Given the description of an element on the screen output the (x, y) to click on. 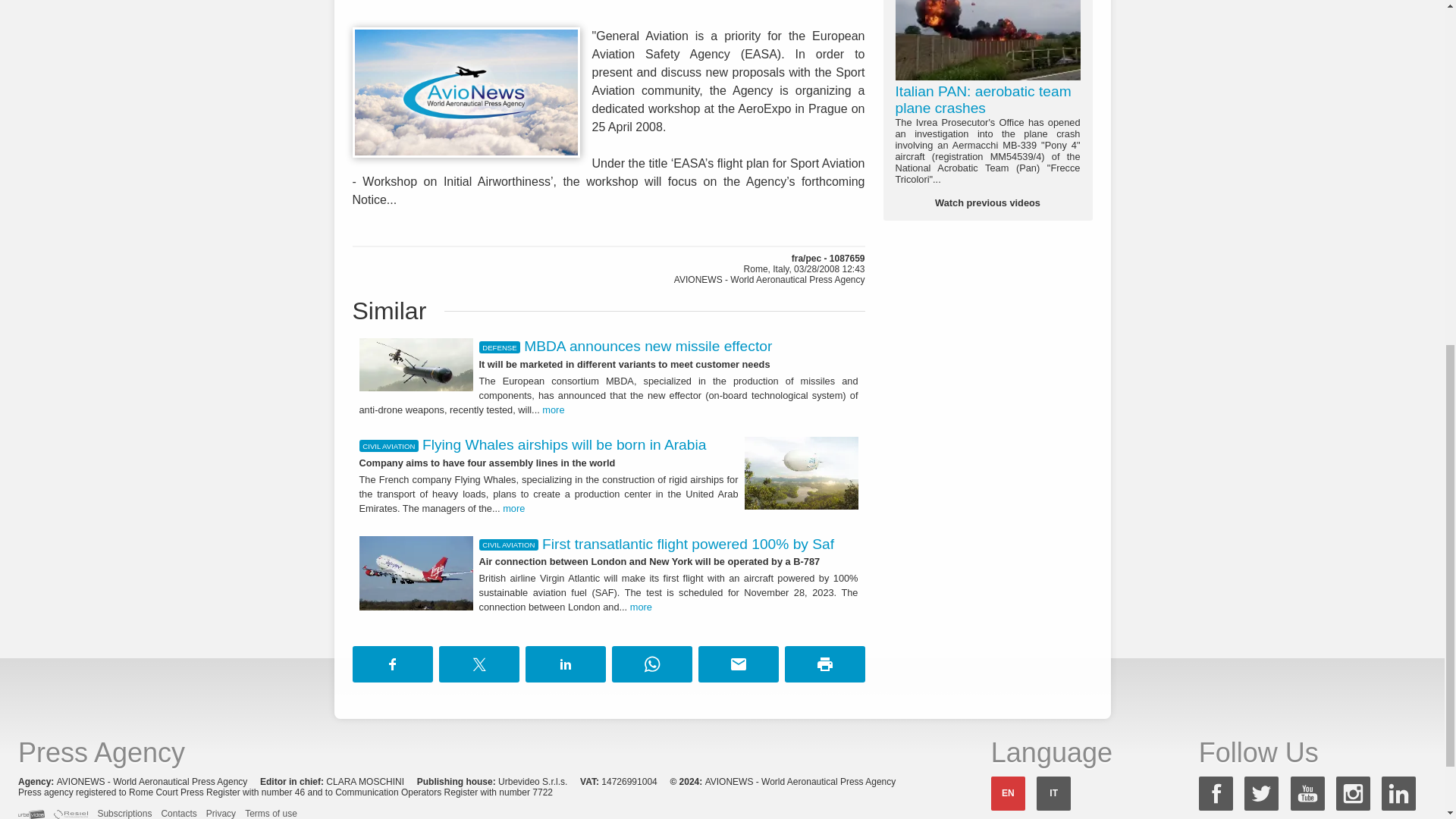
Virgin Atlantic plane (416, 573)
Flying Whales airship with technology by Thales (801, 472)
MBDA to develop the combat missile for the Tiger helicopter (416, 364)
Advertisement (608, 7)
Italiano (1053, 793)
English (1008, 793)
